Given the description of an element on the screen output the (x, y) to click on. 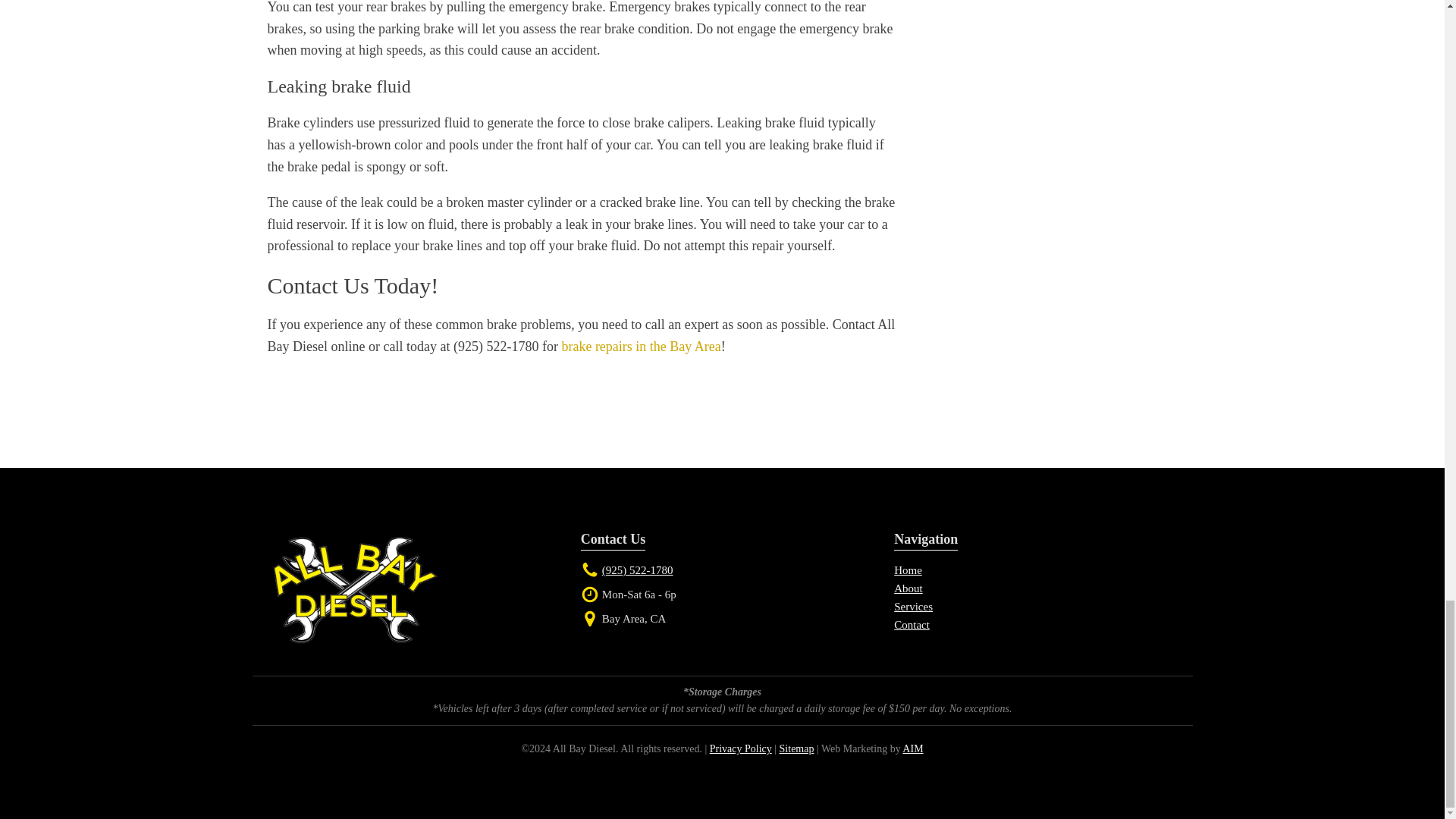
About (908, 588)
Contact (911, 624)
Home (907, 570)
brake repairs in the Bay Area (640, 346)
Services (913, 606)
Sitemap (795, 748)
Privacy Policy (740, 748)
AIM (912, 748)
